Given the description of an element on the screen output the (x, y) to click on. 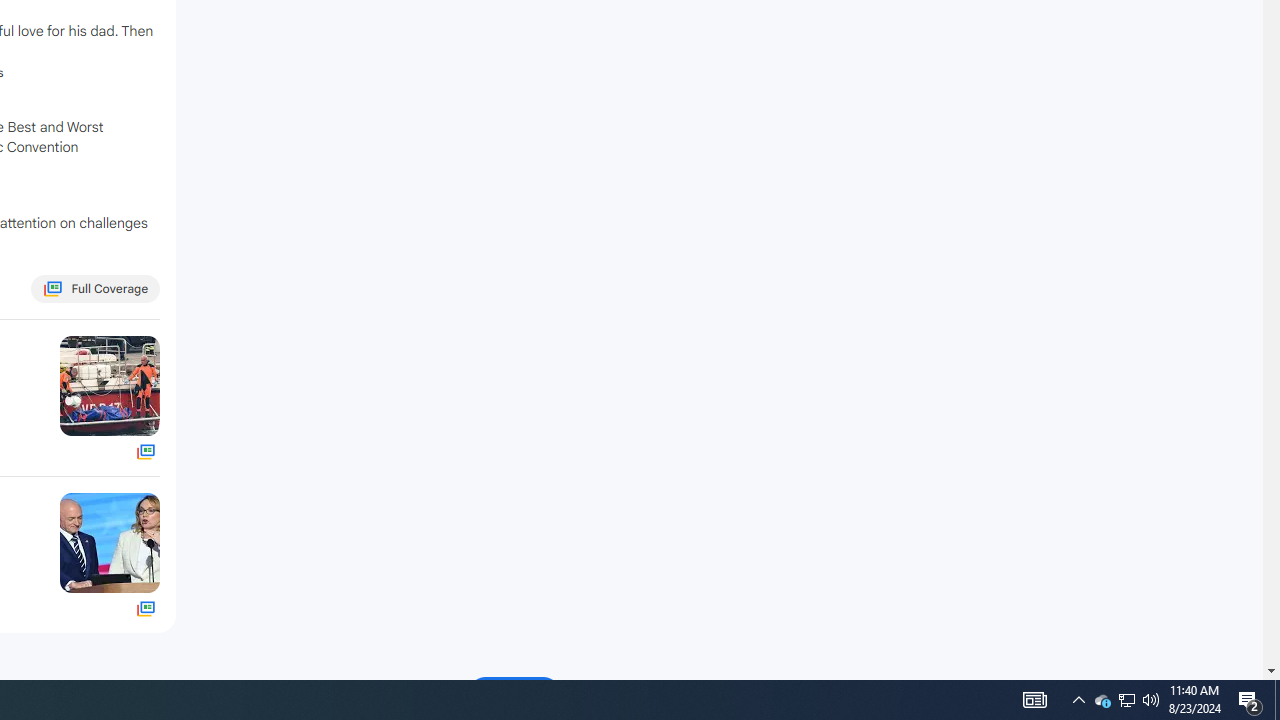
Full Coverage (146, 608)
